Given the description of an element on the screen output the (x, y) to click on. 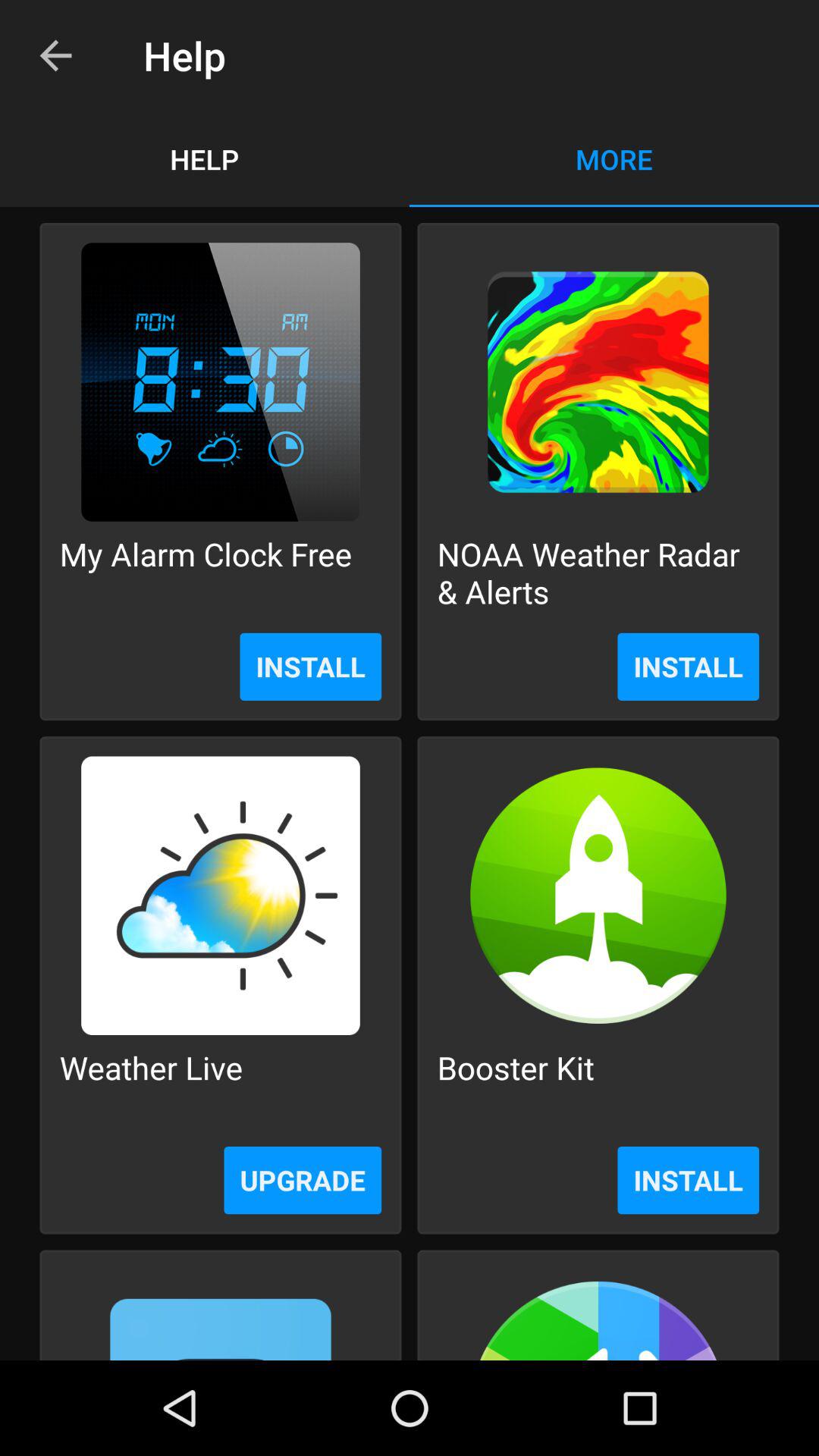
tap icon to the left of noaa weather radar icon (205, 572)
